Given the description of an element on the screen output the (x, y) to click on. 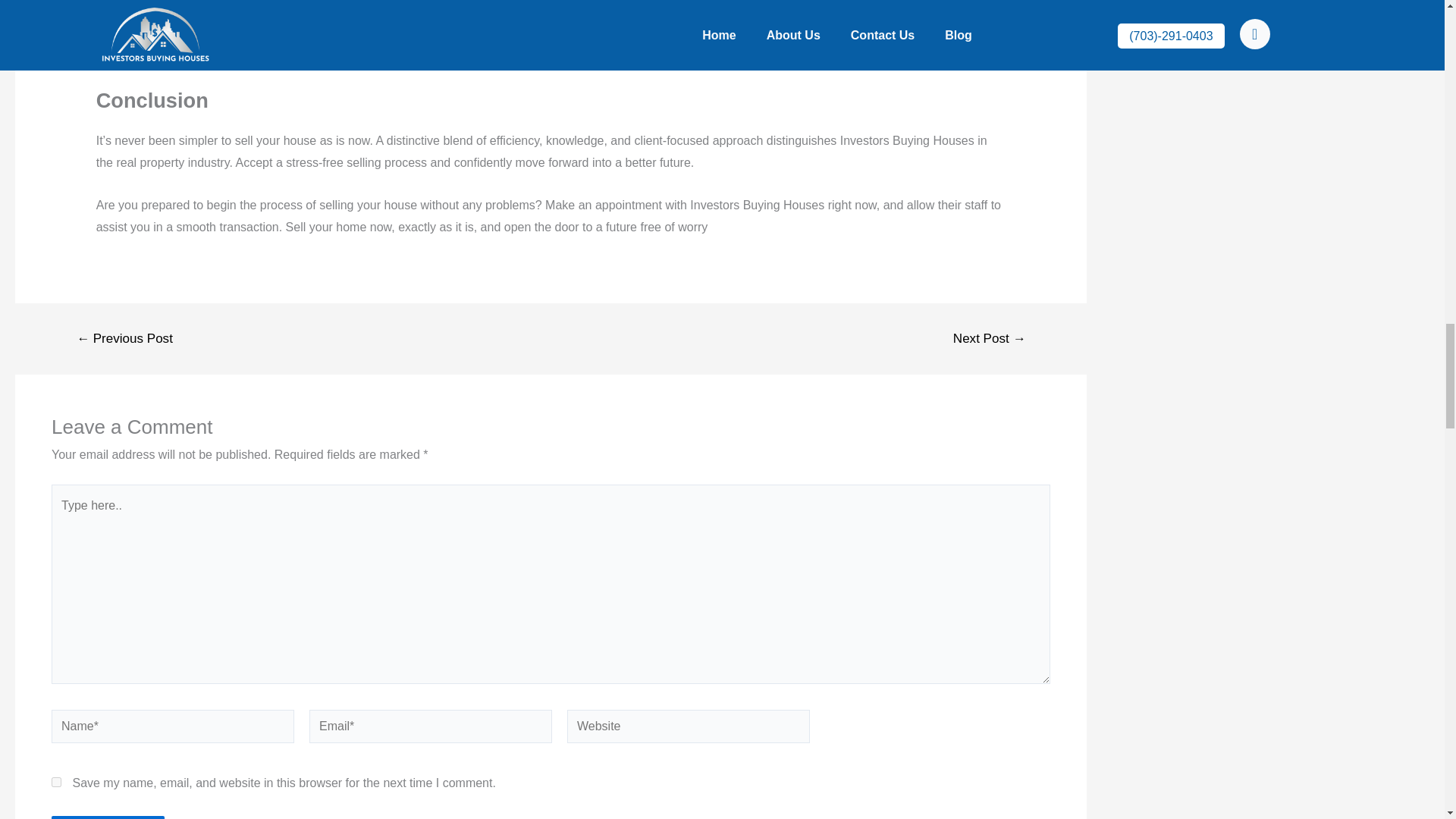
yes (55, 782)
